Given the description of an element on the screen output the (x, y) to click on. 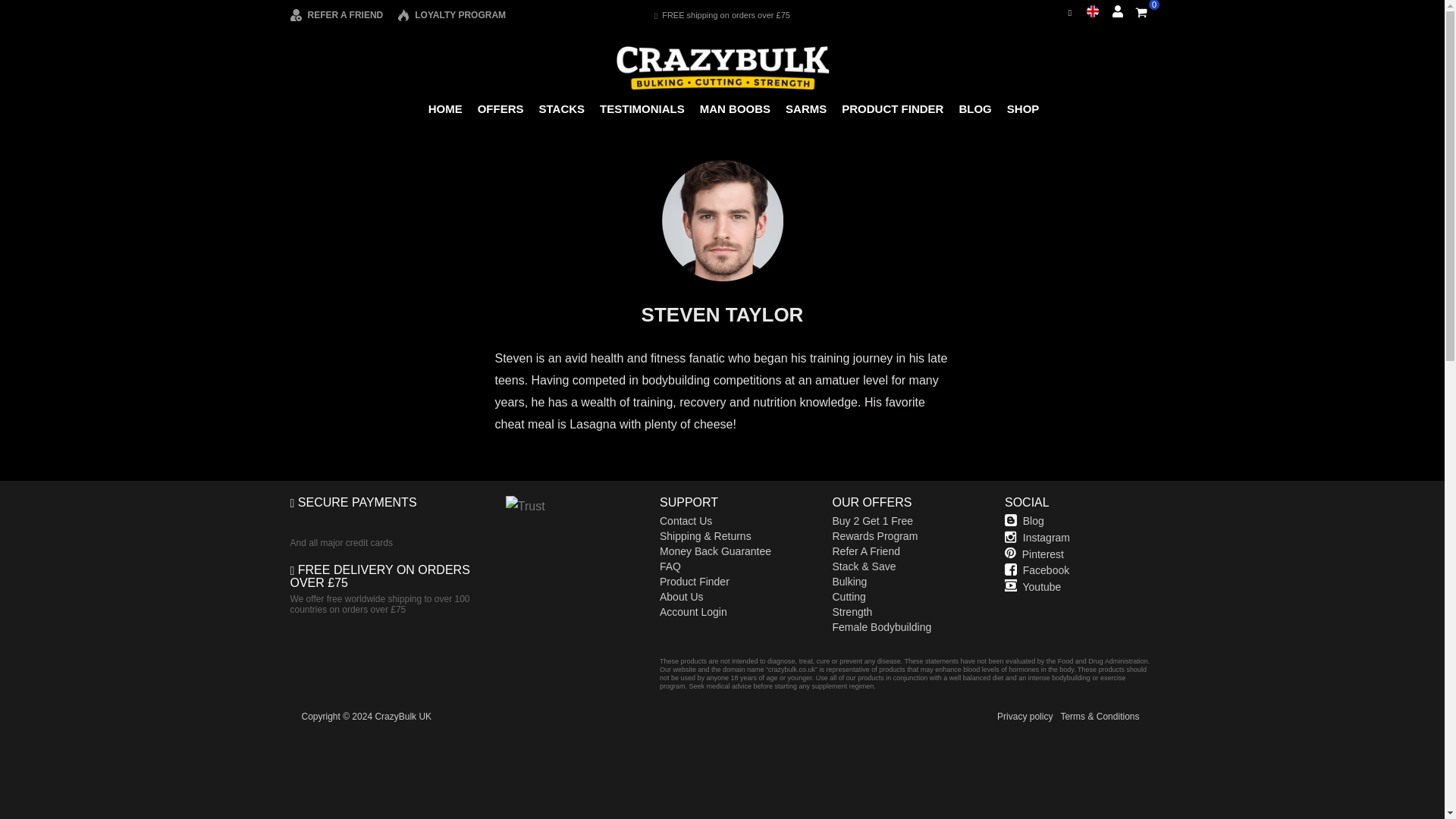
0 (1141, 12)
REFER A FRIEND (335, 15)
LOYALTY PROGRAM (451, 15)
